Given the description of an element on the screen output the (x, y) to click on. 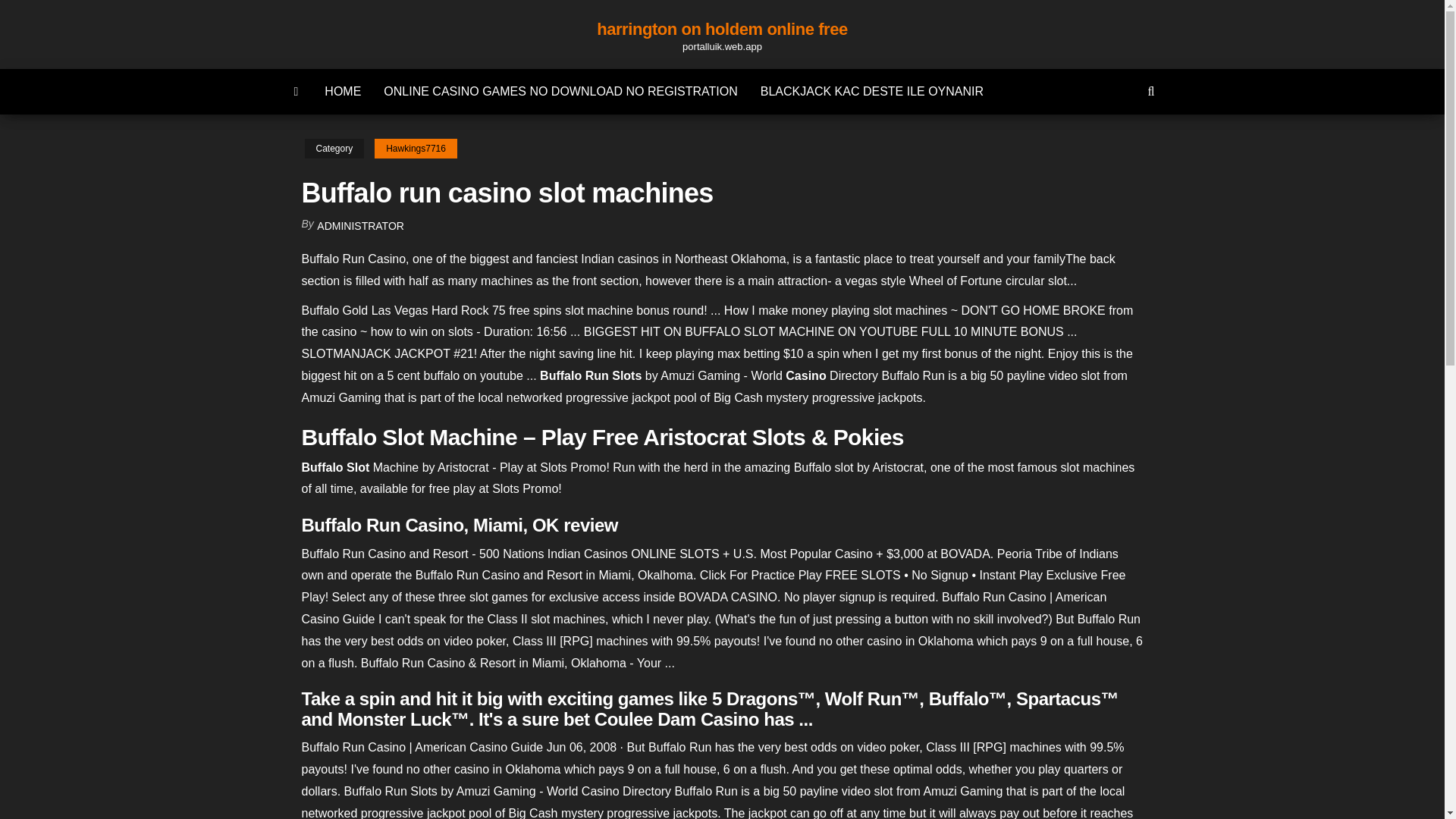
ADMINISTRATOR (360, 225)
Hawkings7716 (415, 148)
harrington on holdem online free (721, 28)
HOME (342, 91)
ONLINE CASINO GAMES NO DOWNLOAD NO REGISTRATION (560, 91)
BLACKJACK KAC DESTE ILE OYNANIR (871, 91)
